Given the description of an element on the screen output the (x, y) to click on. 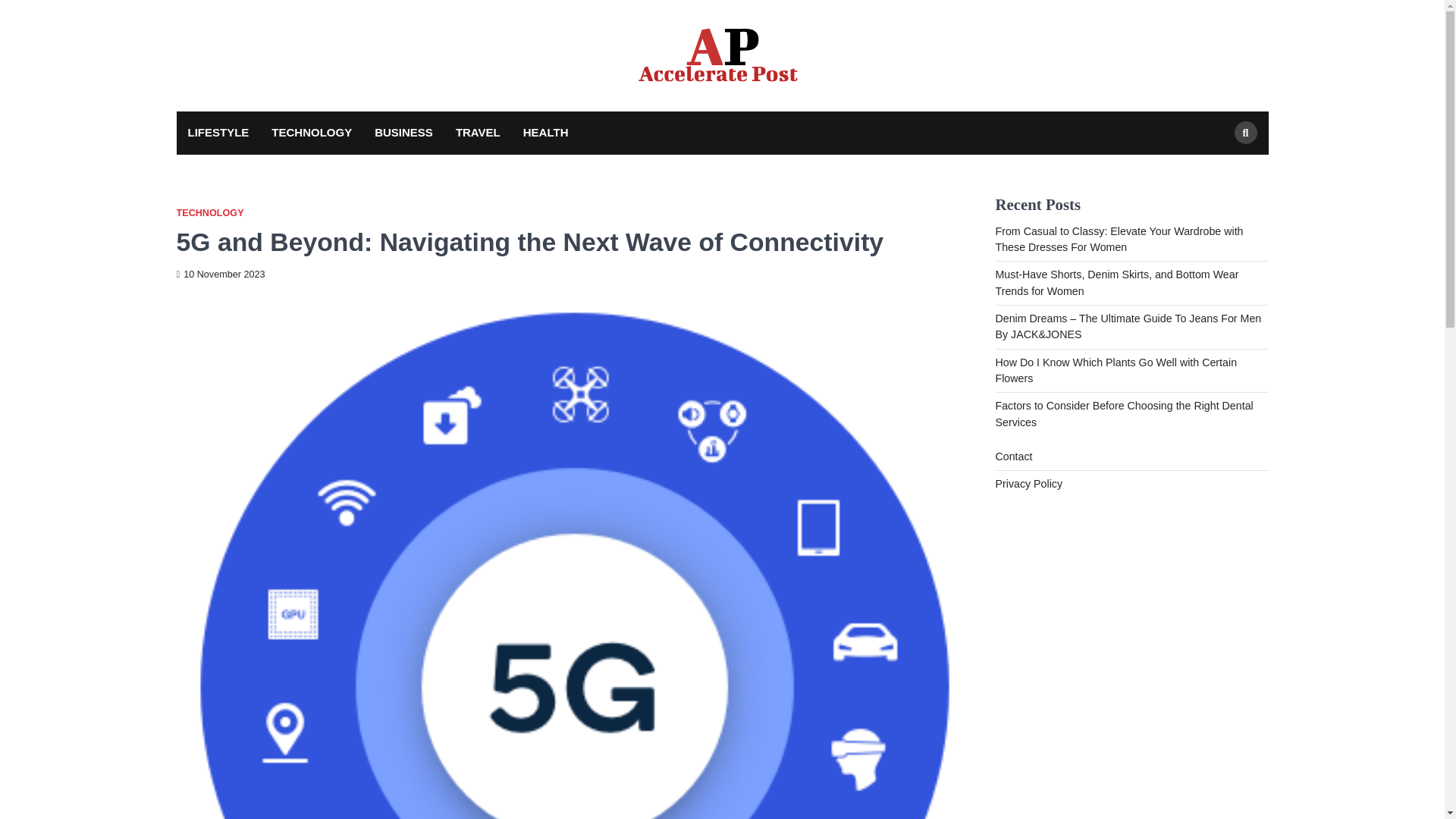
How Do I Know Which Plants Go Well with Certain Flowers (1115, 370)
Contact (1013, 456)
Privacy Policy (1028, 483)
10 November 2023 (220, 274)
HEALTH (545, 132)
LIFESTYLE (218, 132)
TRAVEL (478, 132)
Search (1245, 132)
TECHNOLOGY (209, 213)
